Given the description of an element on the screen output the (x, y) to click on. 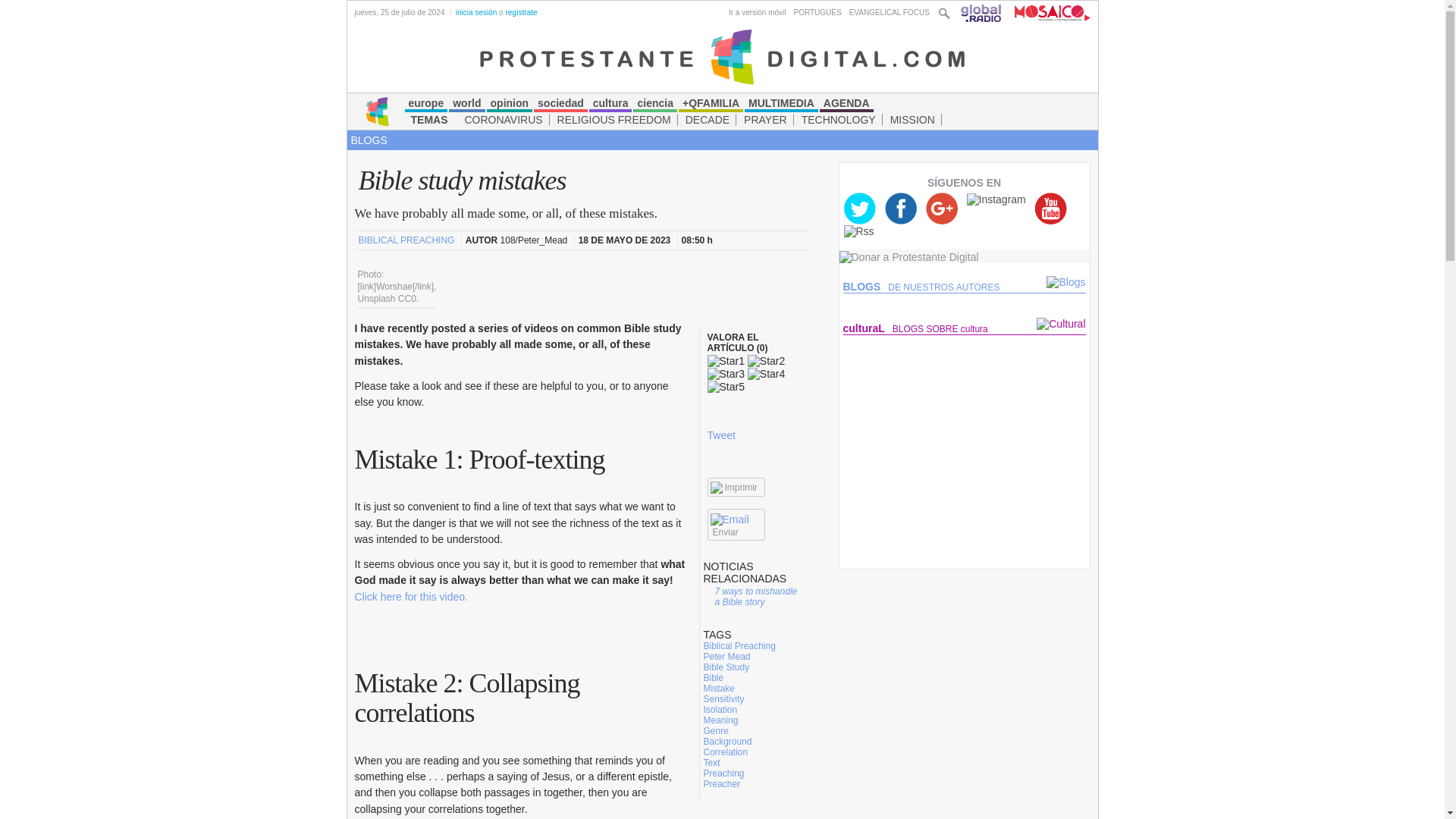
Click here for this video. (411, 596)
BIBLICAL PREACHING (407, 240)
BLOGS (368, 140)
